Given the description of an element on the screen output the (x, y) to click on. 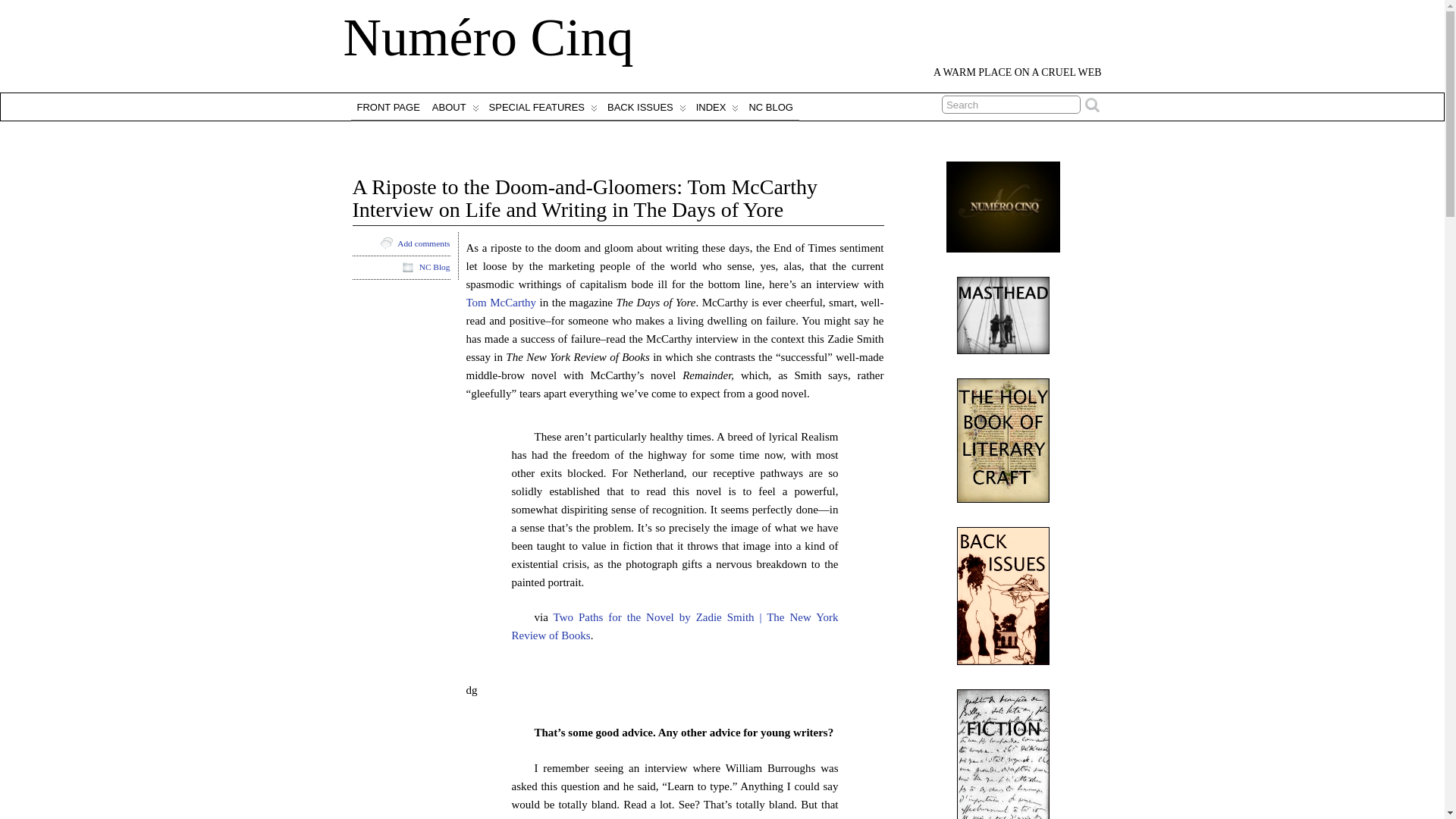
NC BLOG (770, 106)
 ABOUT (454, 106)
 INDEX (716, 106)
 BACK ISSUES (645, 106)
Search (1011, 104)
Search (1011, 104)
 SPECIAL FEATURES (542, 106)
FRONT PAGE (387, 106)
